Given the description of an element on the screen output the (x, y) to click on. 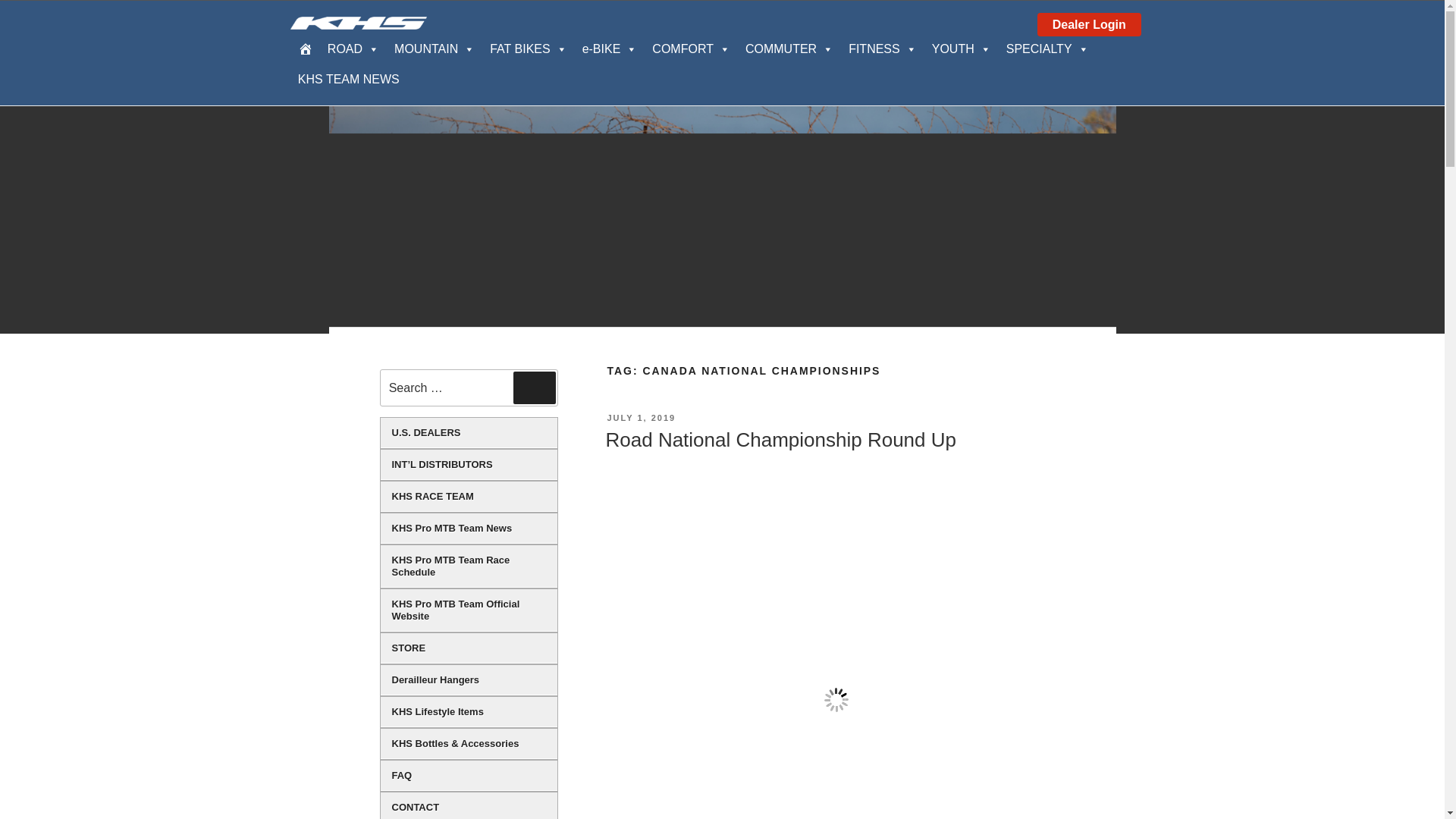
ROAD (353, 49)
KHS Bicycles (357, 22)
COMMUTER (789, 49)
FAT BIKES (527, 49)
e-BIKE (610, 49)
Home (304, 49)
ROAD (353, 49)
MOUNTAIN (434, 49)
COMFORT (691, 49)
